Given the description of an element on the screen output the (x, y) to click on. 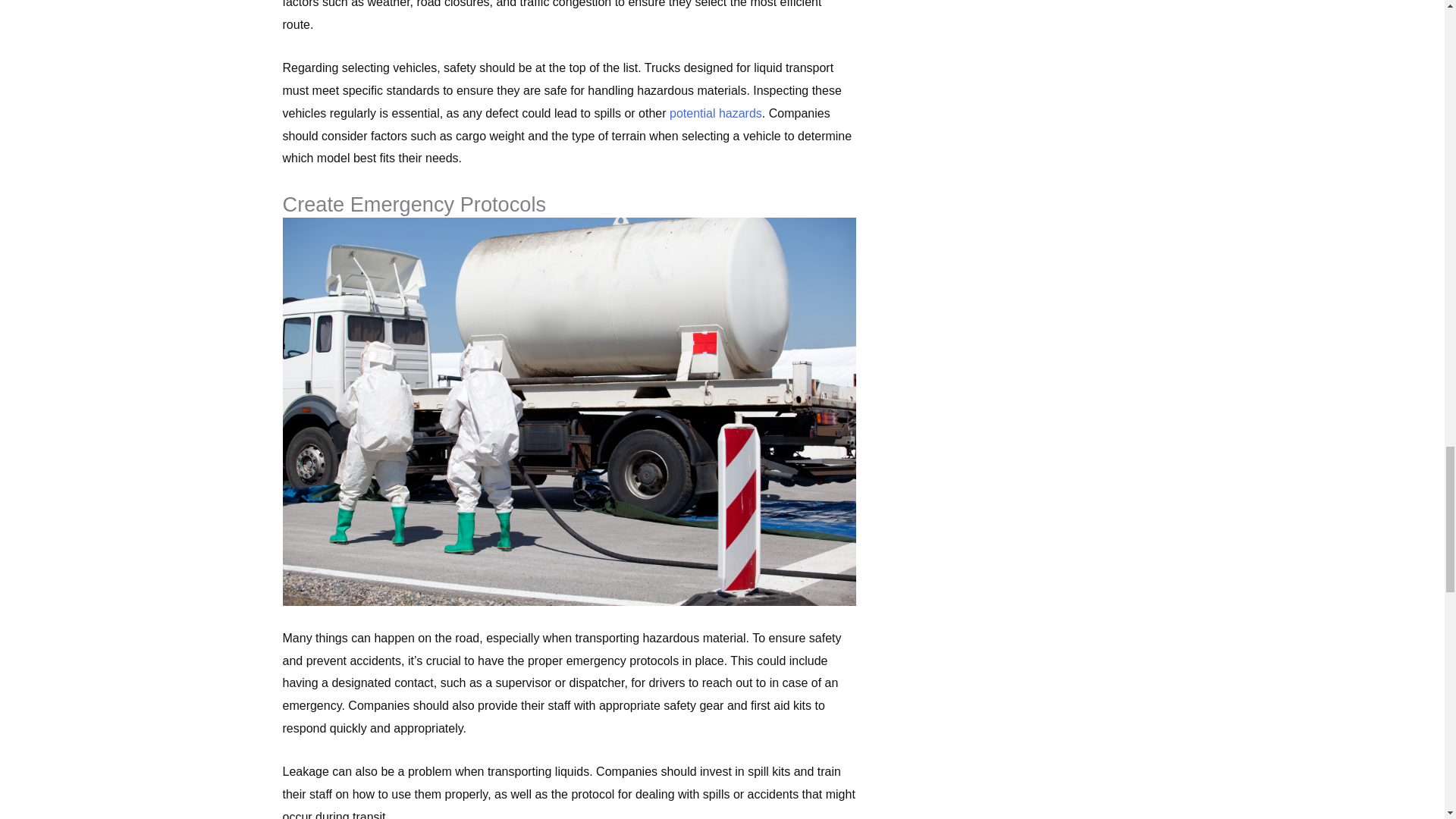
potential hazards (715, 113)
